Given the description of an element on the screen output the (x, y) to click on. 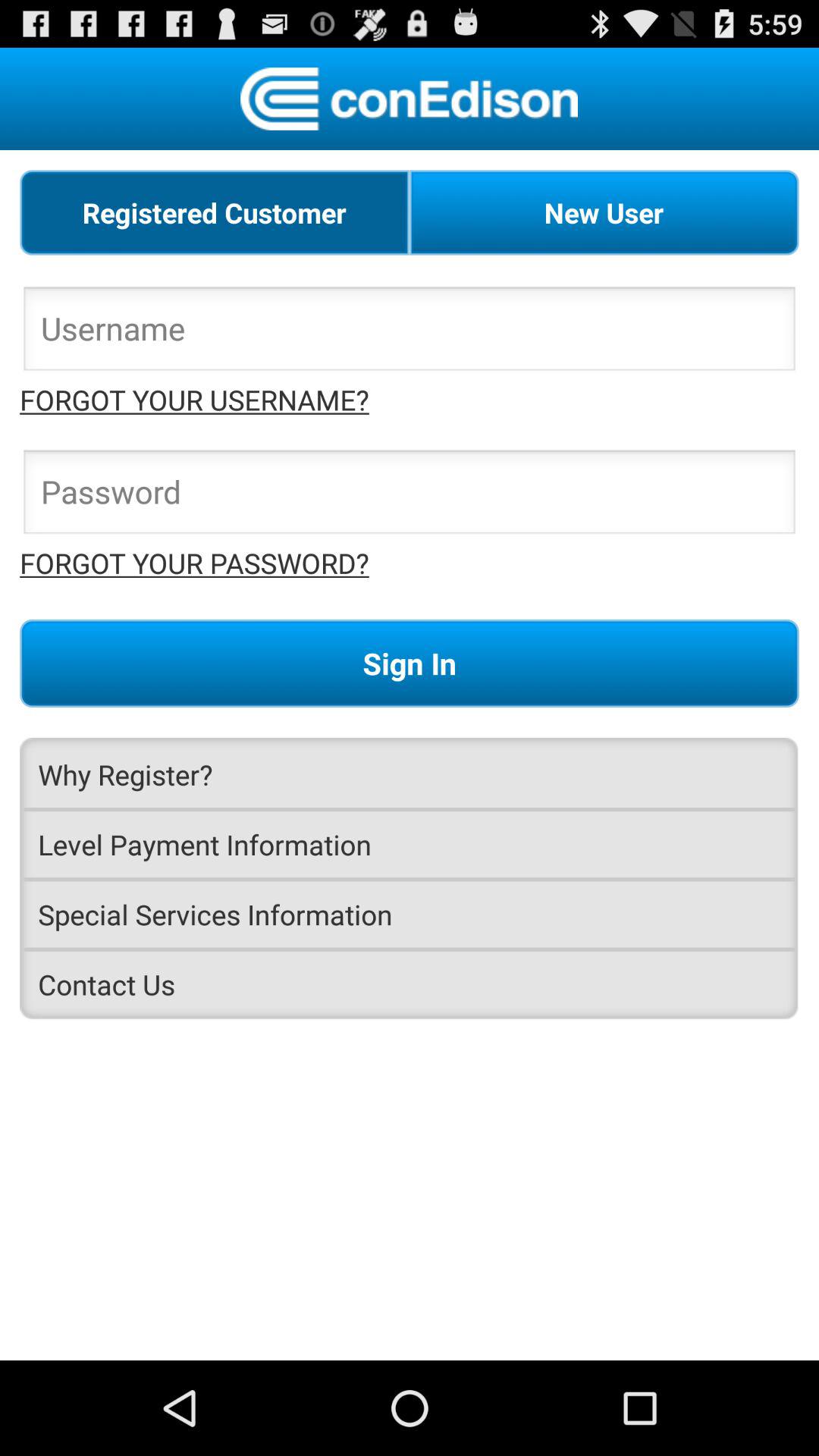
turn on app below the forgot your password? icon (409, 663)
